Given the description of an element on the screen output the (x, y) to click on. 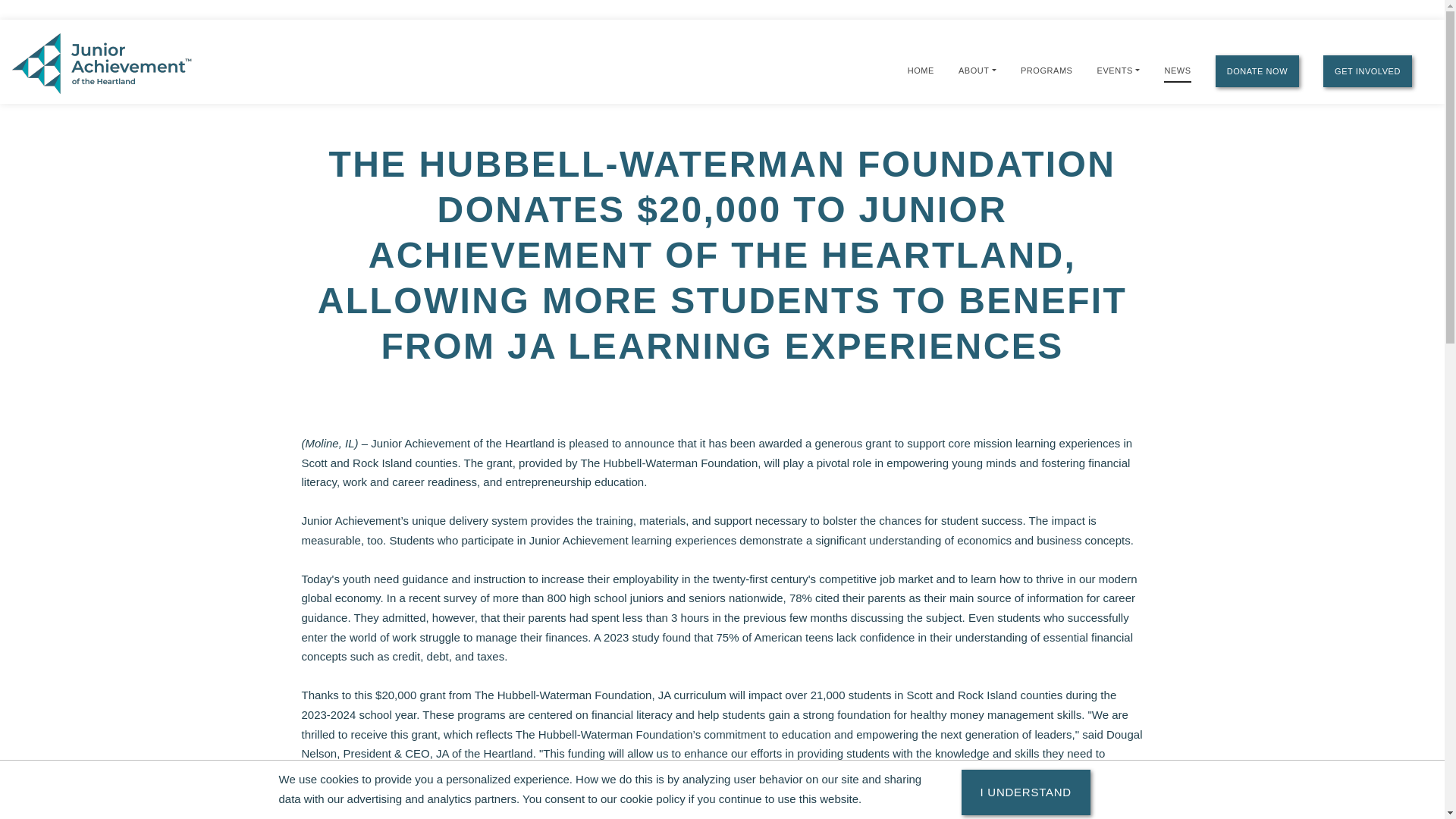
GET INVOLVED (1367, 70)
Go to home page for Junior Achievement of the Heartland (103, 62)
EVENTS (1114, 70)
Go to About page (973, 70)
ABOUT (973, 70)
Go to Home page (920, 70)
DONATE NOW (1256, 70)
PROGRAMS (1046, 70)
Go to Events page (1114, 70)
NEWS (1177, 70)
